Given the description of an element on the screen output the (x, y) to click on. 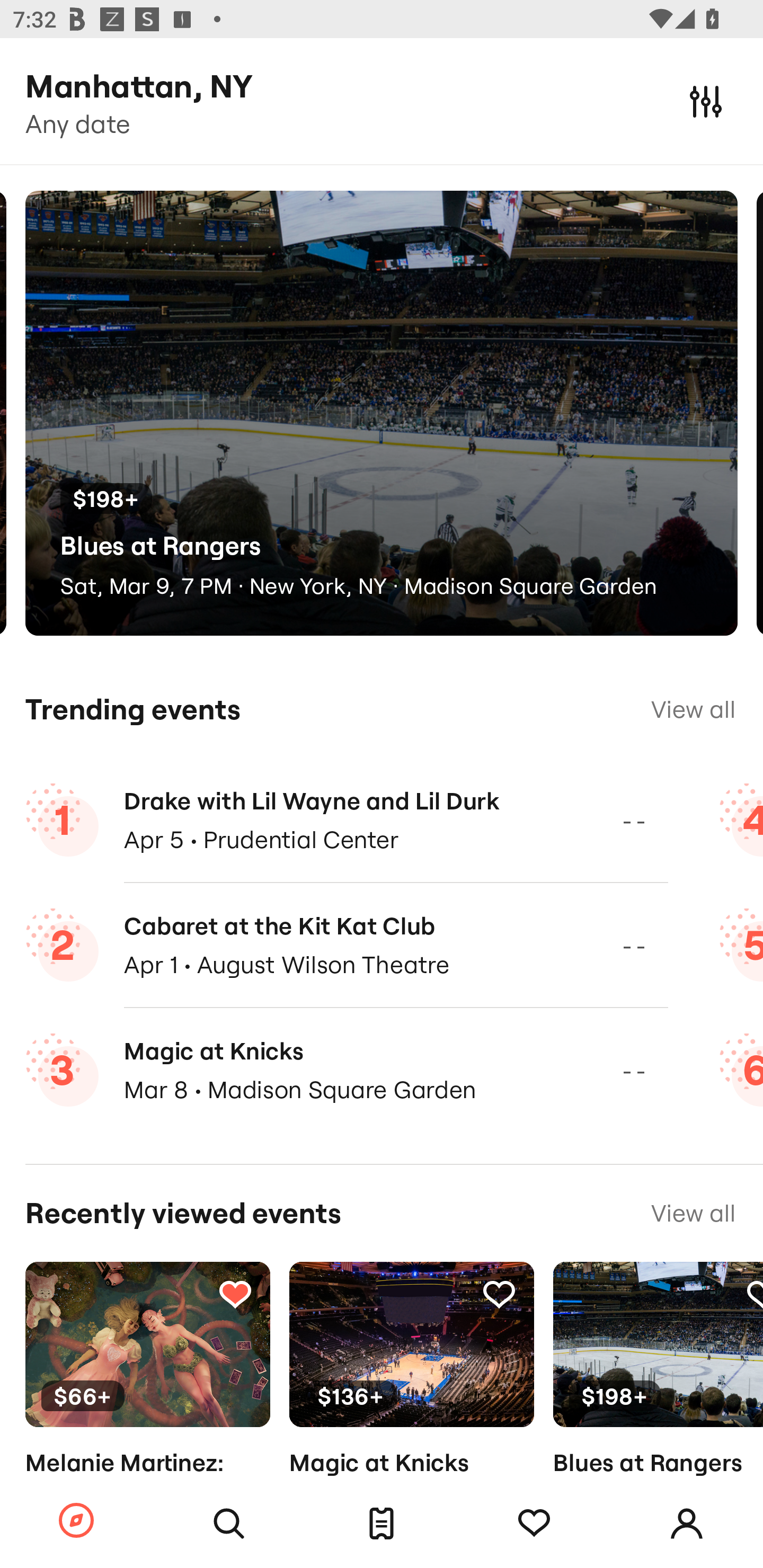
Close (705, 100)
View all (693, 709)
View all (693, 1213)
Tracking $136+ Magic at Knicks Tomorrow · 7:30 PM (411, 1399)
Tracking $198+ Blues at Rangers Sat, Mar 9, 7 PM (658, 1399)
Tracking (234, 1293)
Tracking (498, 1293)
Tracking (753, 1293)
Browse (76, 1521)
Search (228, 1523)
Tickets (381, 1523)
Tracking (533, 1523)
Account (686, 1523)
